Given the description of an element on the screen output the (x, y) to click on. 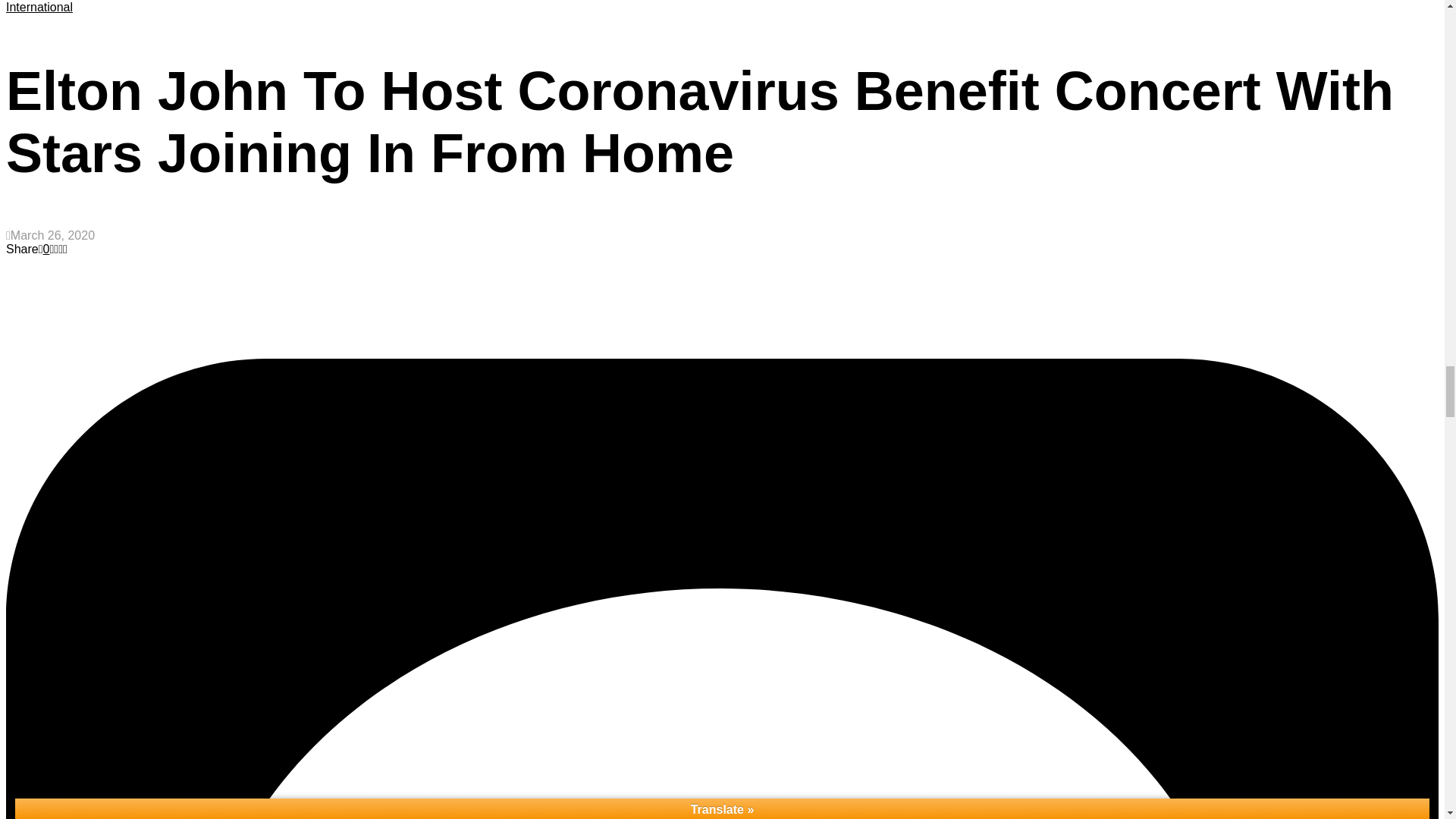
Like (44, 248)
